Given the description of an element on the screen output the (x, y) to click on. 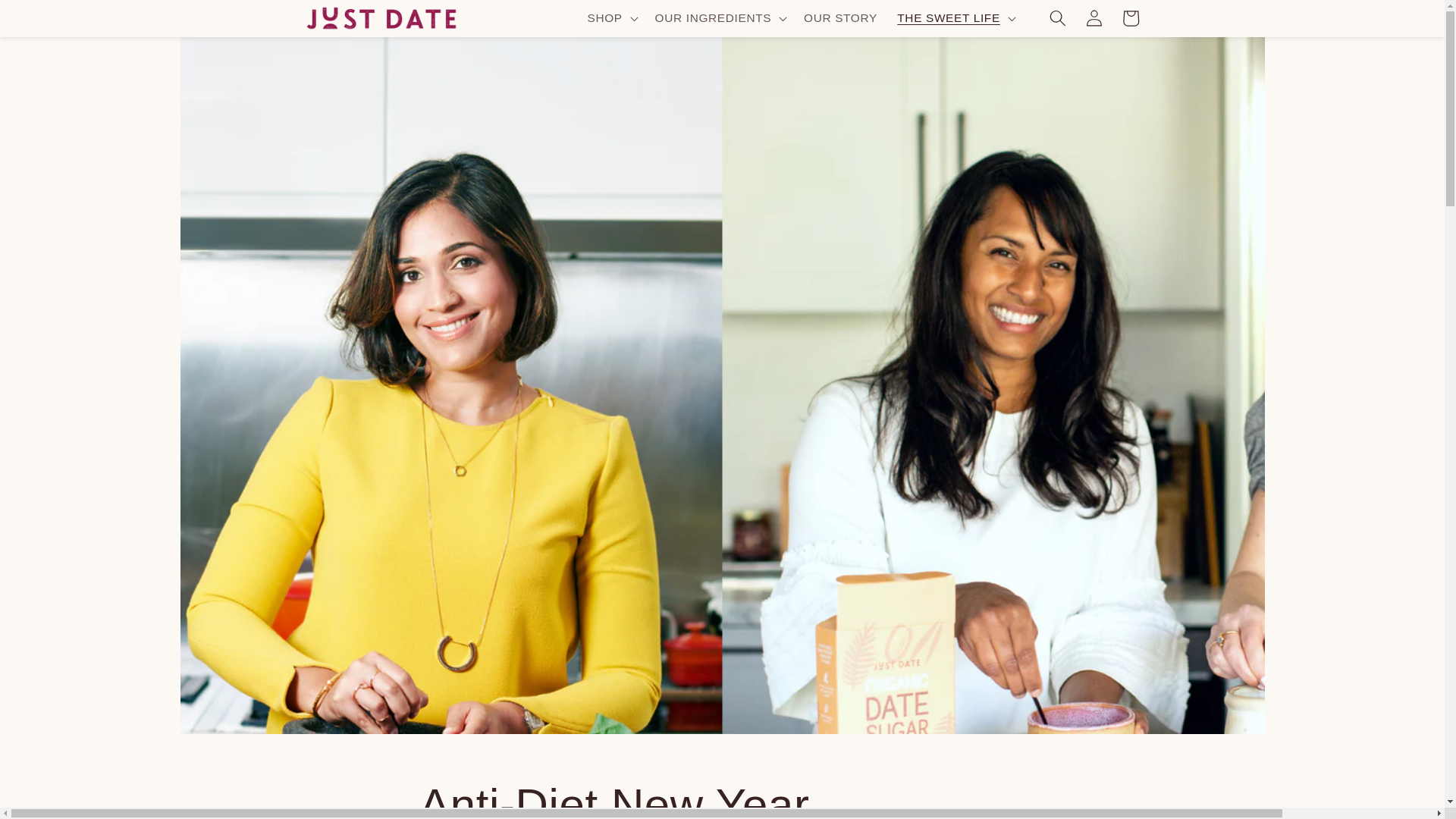
OUR STORY (839, 18)
Log in (1093, 18)
Skip to content (50, 19)
Cart (1130, 18)
